Given the description of an element on the screen output the (x, y) to click on. 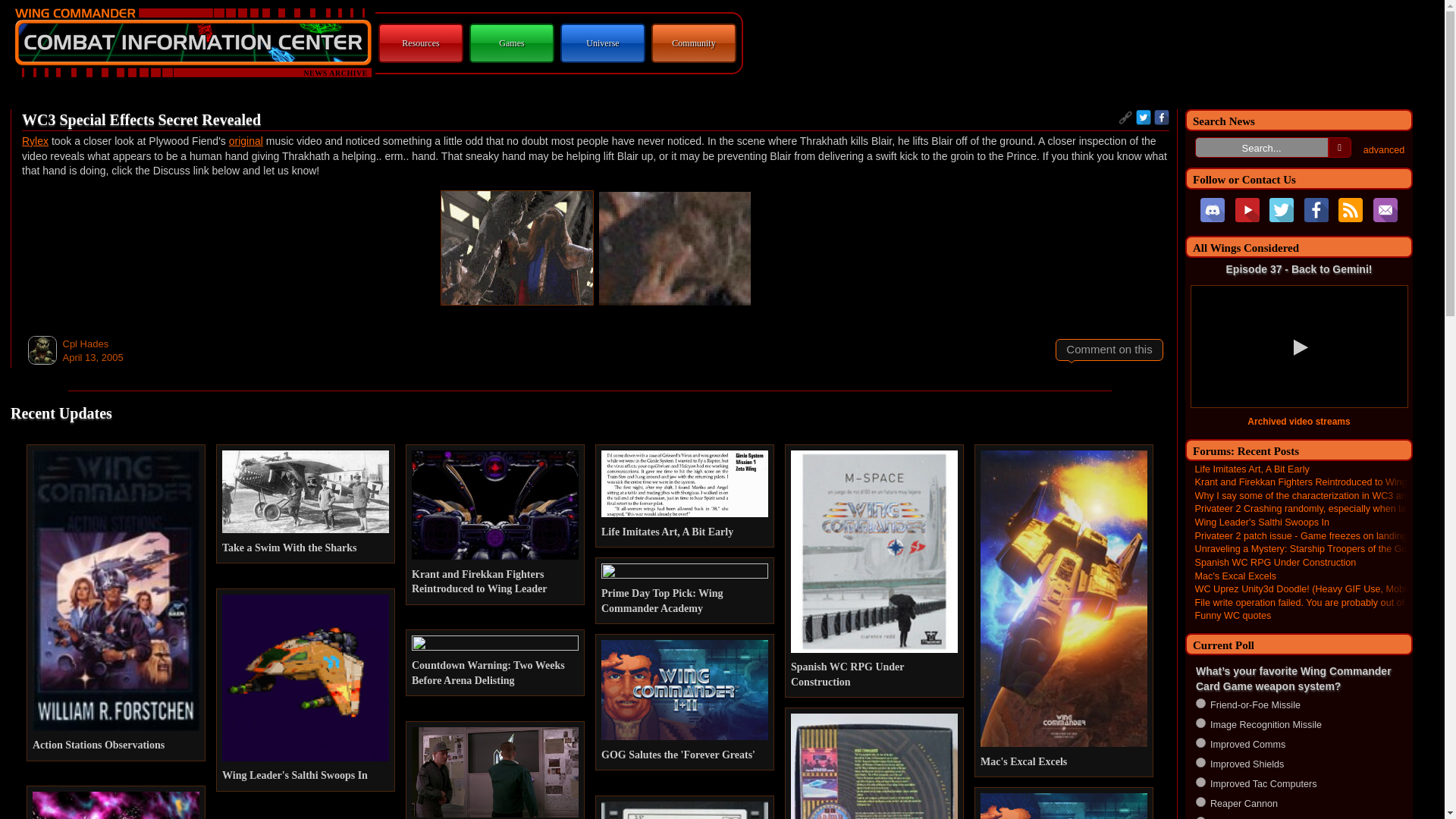
Advanced search (1383, 149)
2 (1200, 723)
Follow us on Twitter (1281, 209)
6 (1200, 801)
3 (1200, 742)
5 (1200, 782)
Discord chat with staff and fans (1211, 209)
Games (511, 42)
Share on Facebook (1161, 117)
Follow us on YouTube (1246, 209)
4 (1200, 762)
1 (1200, 702)
Share on Twitter (1143, 117)
Resources (420, 42)
